Given the description of an element on the screen output the (x, y) to click on. 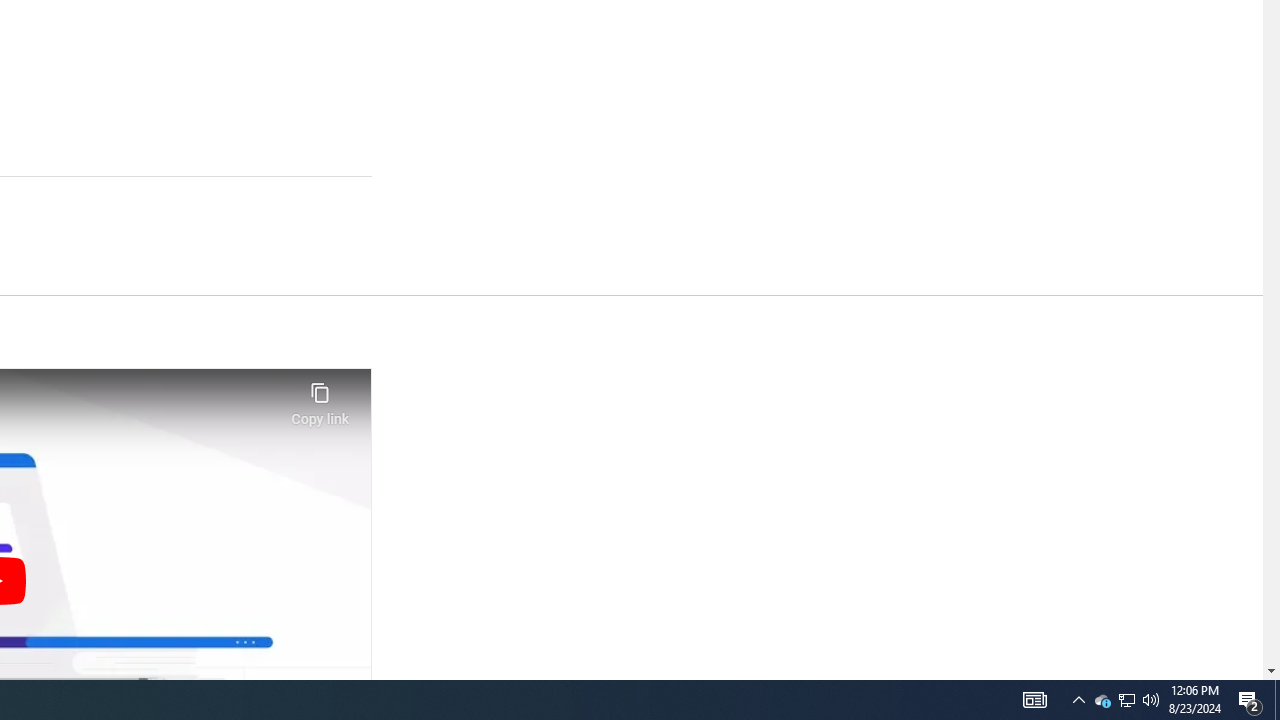
Copy link (319, 398)
